Given the description of an element on the screen output the (x, y) to click on. 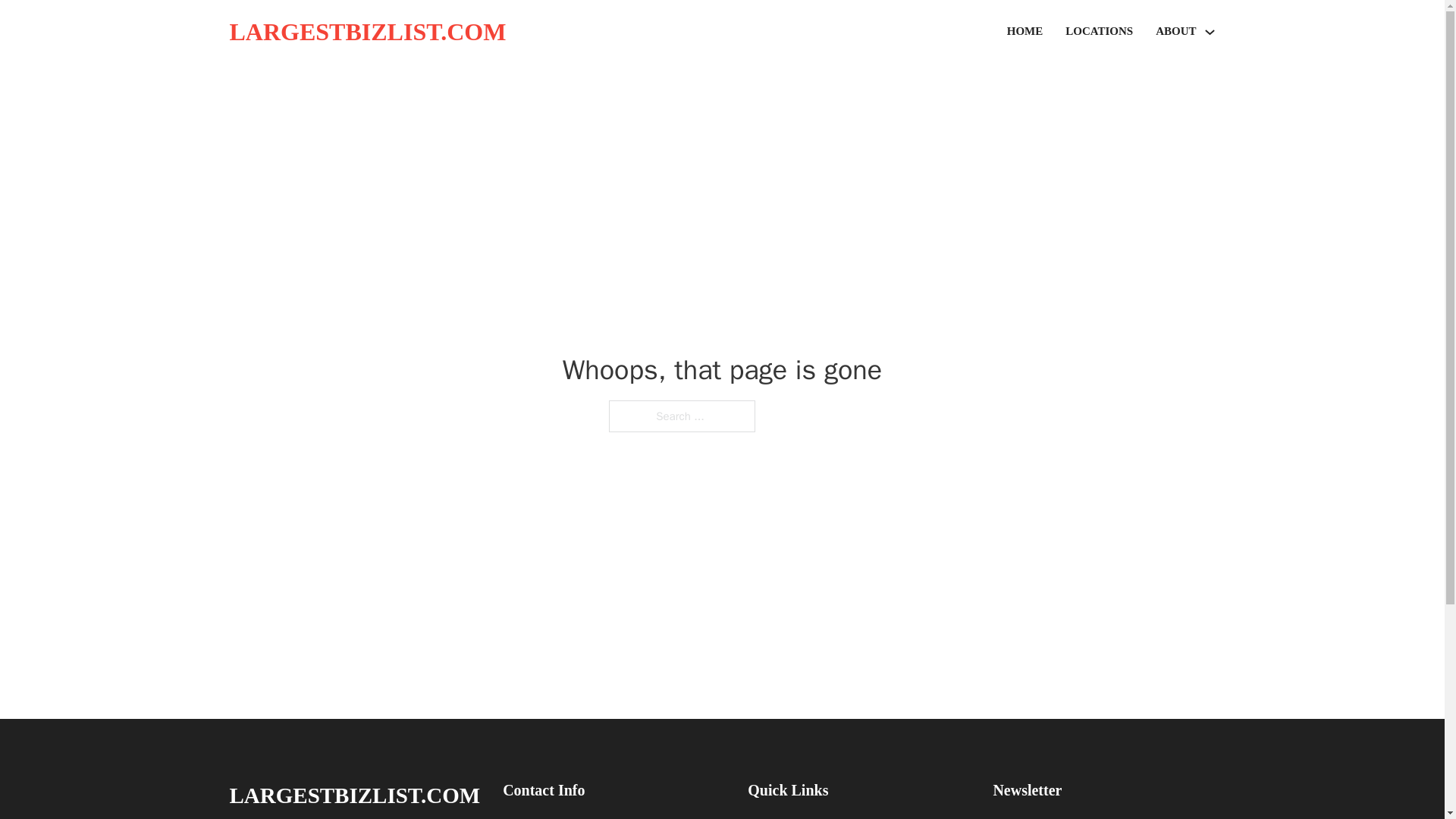
LARGESTBIZLIST.COM (354, 795)
HOME (1025, 31)
LARGESTBIZLIST.COM (366, 31)
LOCATIONS (1098, 31)
